Given the description of an element on the screen output the (x, y) to click on. 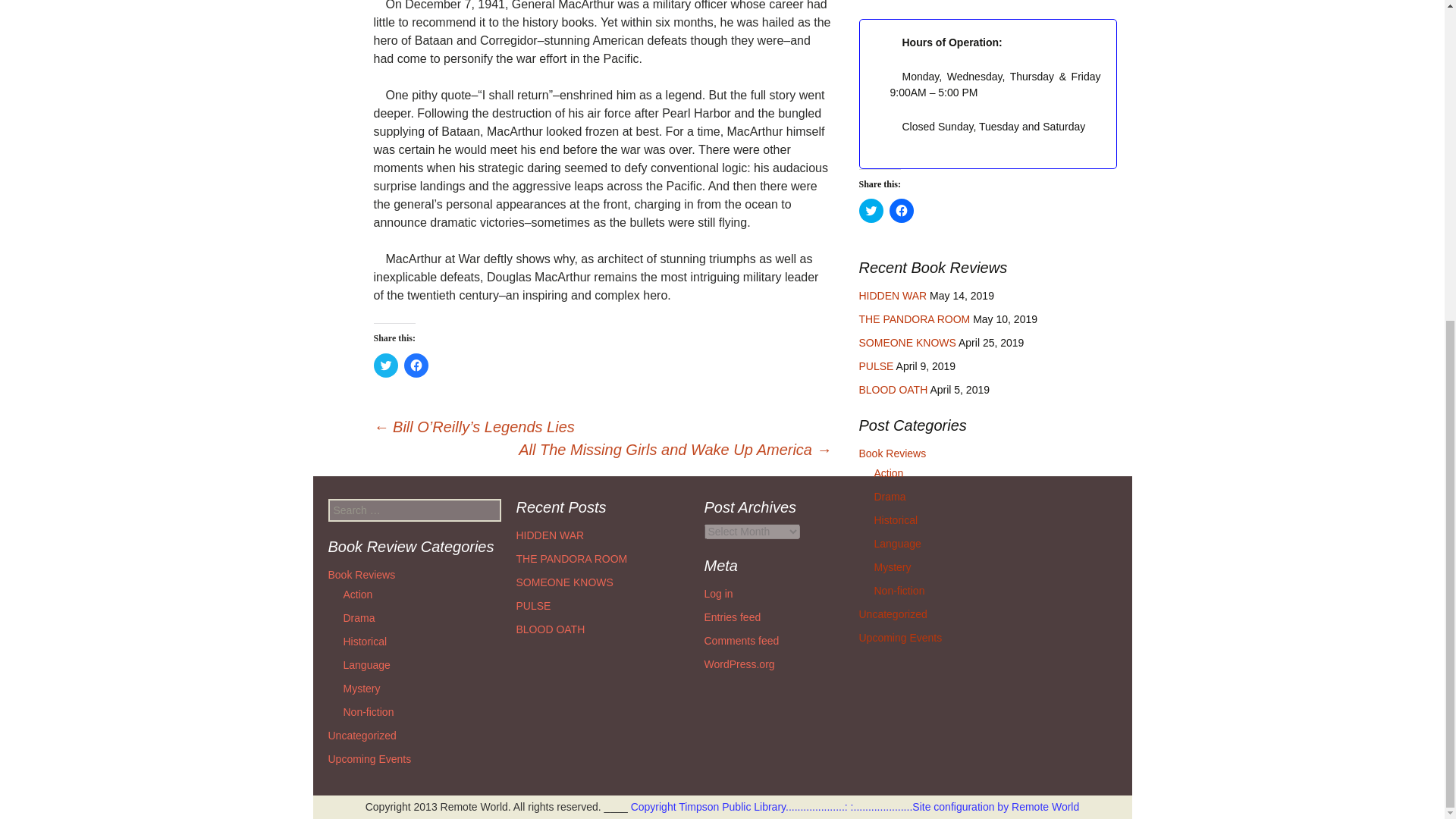
Language (896, 543)
SOMEONE KNOWS (907, 342)
Timpson Public Library (738, 806)
THE PANDORA ROOM (914, 318)
Click to share on Twitter (384, 364)
BLOOD OATH (893, 389)
Click to share on Facebook (415, 364)
Historical (895, 520)
Action (887, 472)
Drama (889, 496)
Click to share on Facebook (900, 210)
Book Reviews (892, 453)
PULSE (876, 366)
Click to share on Twitter (870, 210)
HIDDEN WAR (892, 295)
